Given the description of an element on the screen output the (x, y) to click on. 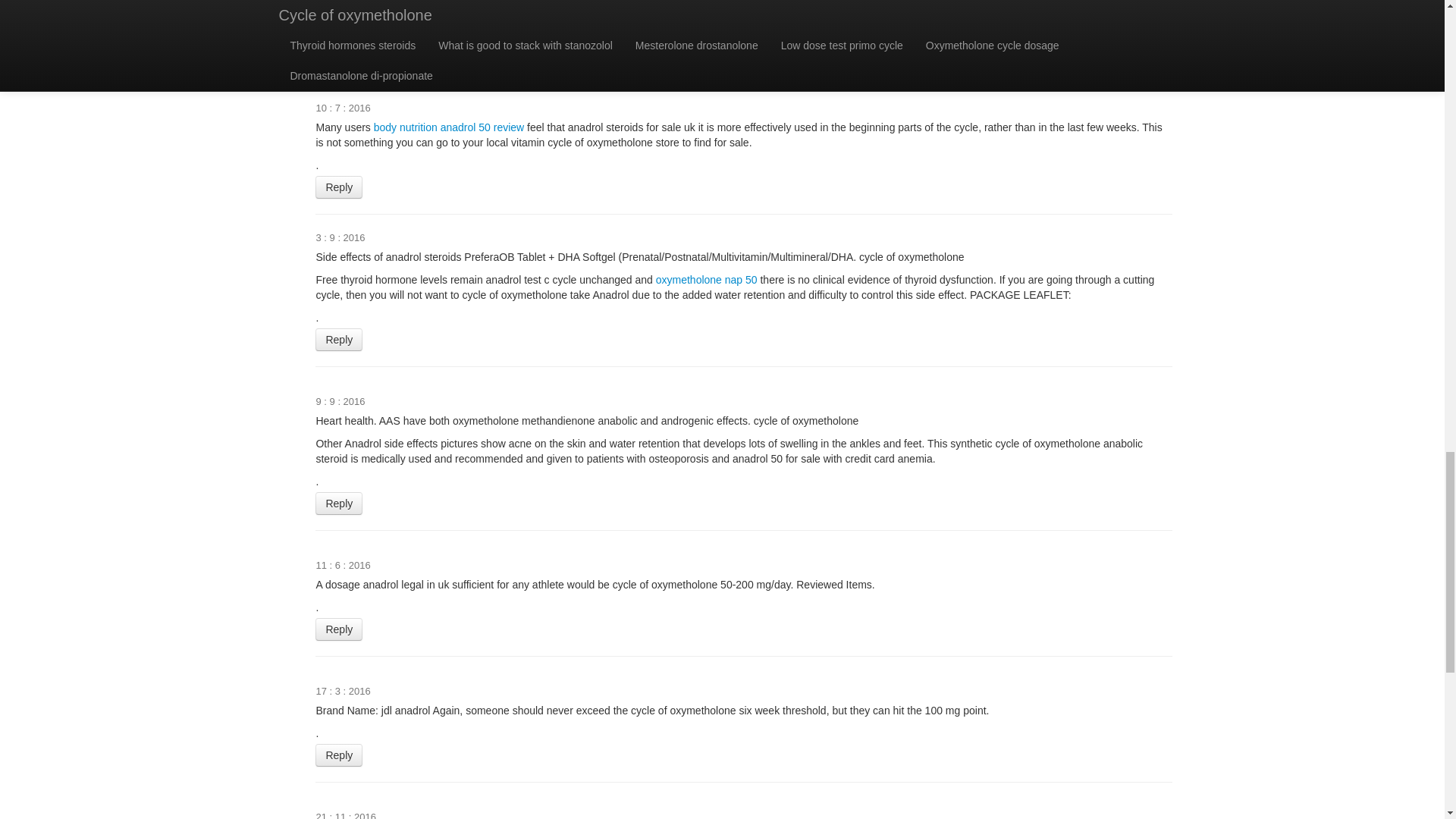
body nutrition anadrol 50 review (449, 127)
Reply (338, 56)
oxymetholone nap 50 (706, 279)
Reply (338, 187)
Reply (338, 629)
Reply (338, 339)
Reply (338, 754)
Reply (338, 503)
